Given the description of an element on the screen output the (x, y) to click on. 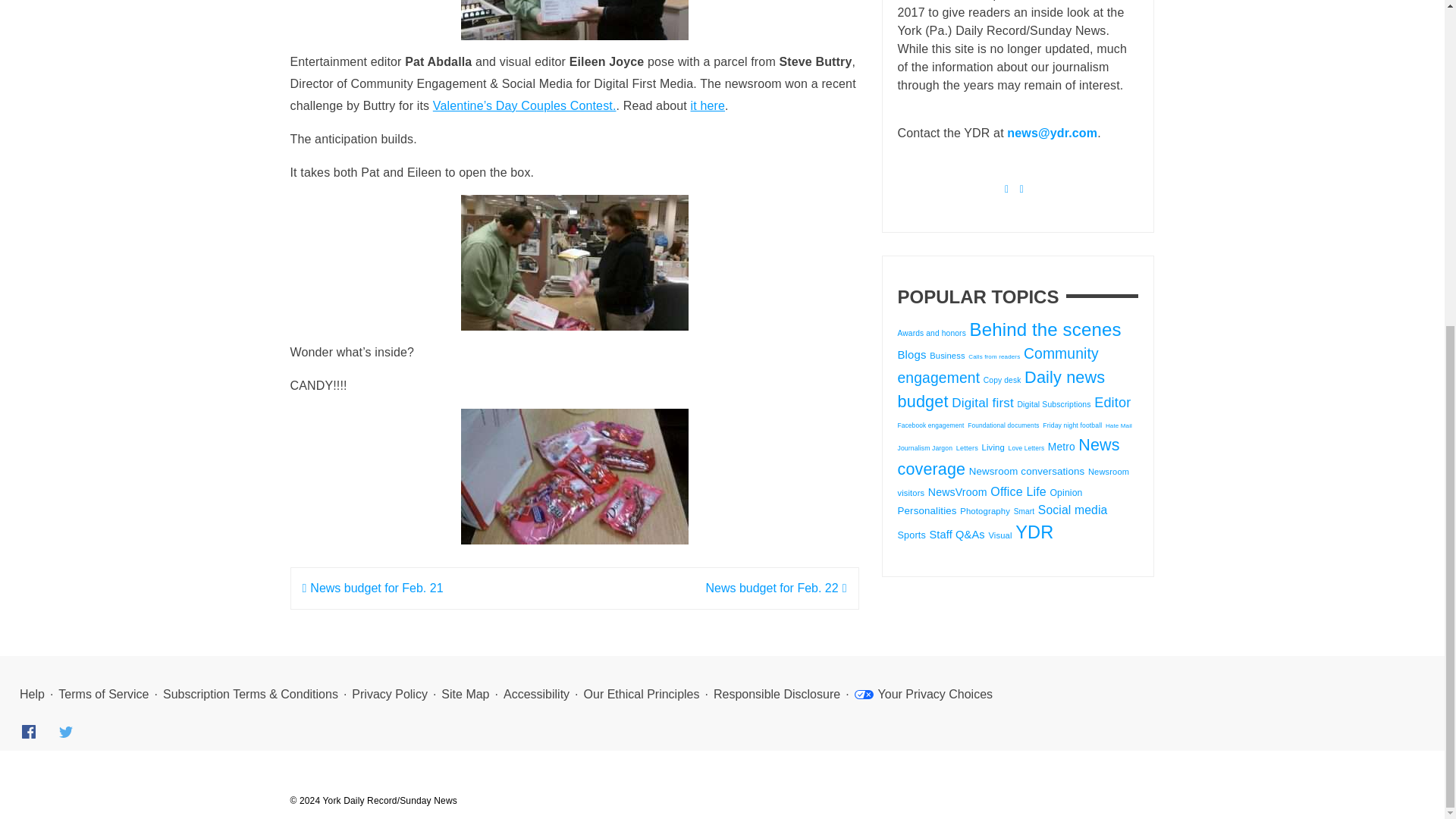
candynew3 (574, 476)
Copy desk (1003, 379)
Friday night football (1072, 425)
Daily news budget (1001, 389)
Hate Mail (1118, 425)
Digital first (982, 402)
Love Letters (1027, 448)
Living (992, 447)
it here (707, 105)
candynew2 (574, 262)
